Given the description of an element on the screen output the (x, y) to click on. 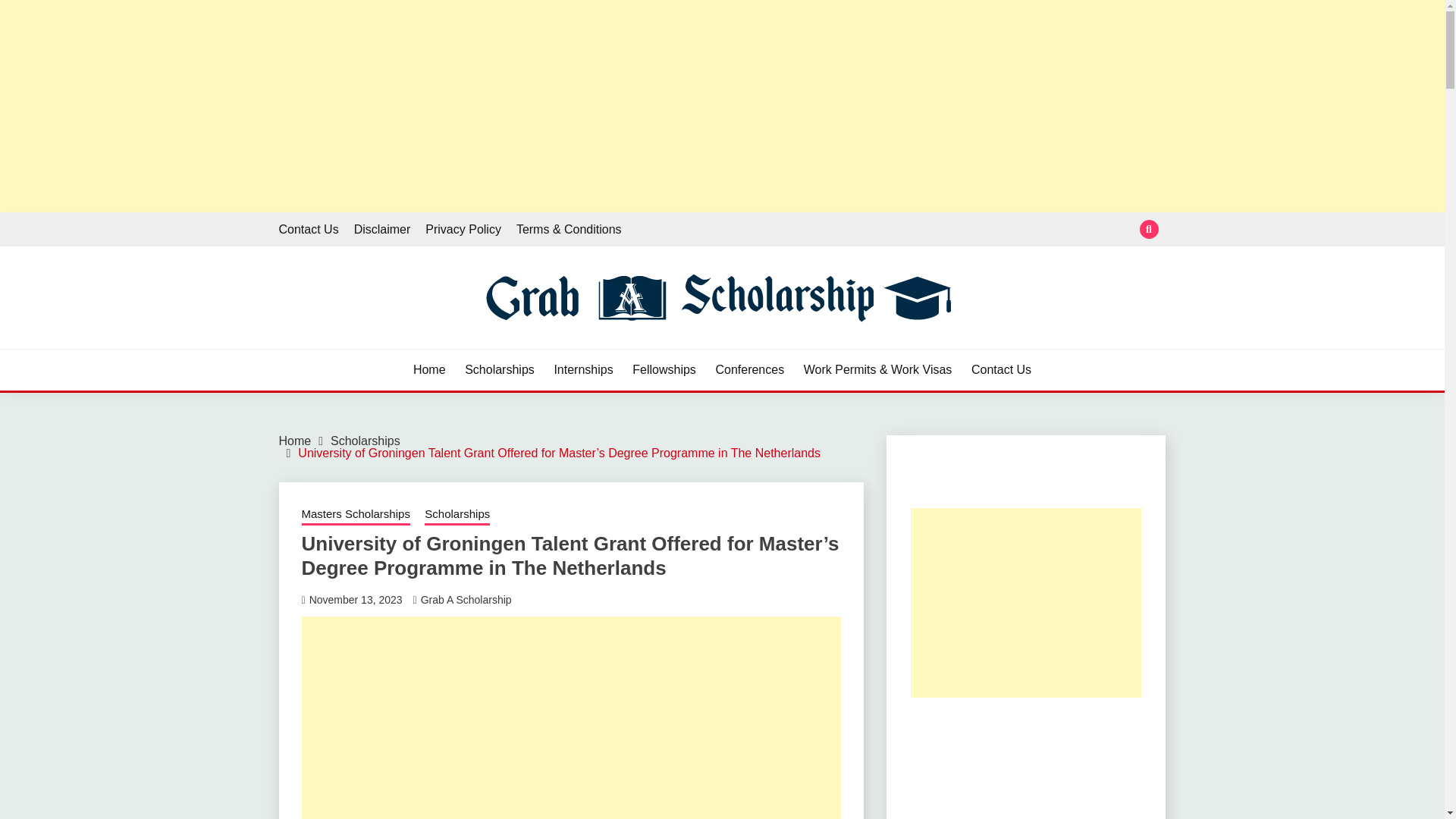
Advertisement (571, 717)
Home (429, 370)
Masters Scholarships (355, 515)
Contact Us (1000, 370)
Internships (582, 370)
Conferences (749, 370)
Disclaimer (381, 228)
Fellowships (663, 370)
Grab A Scholarship (466, 598)
